Given the description of an element on the screen output the (x, y) to click on. 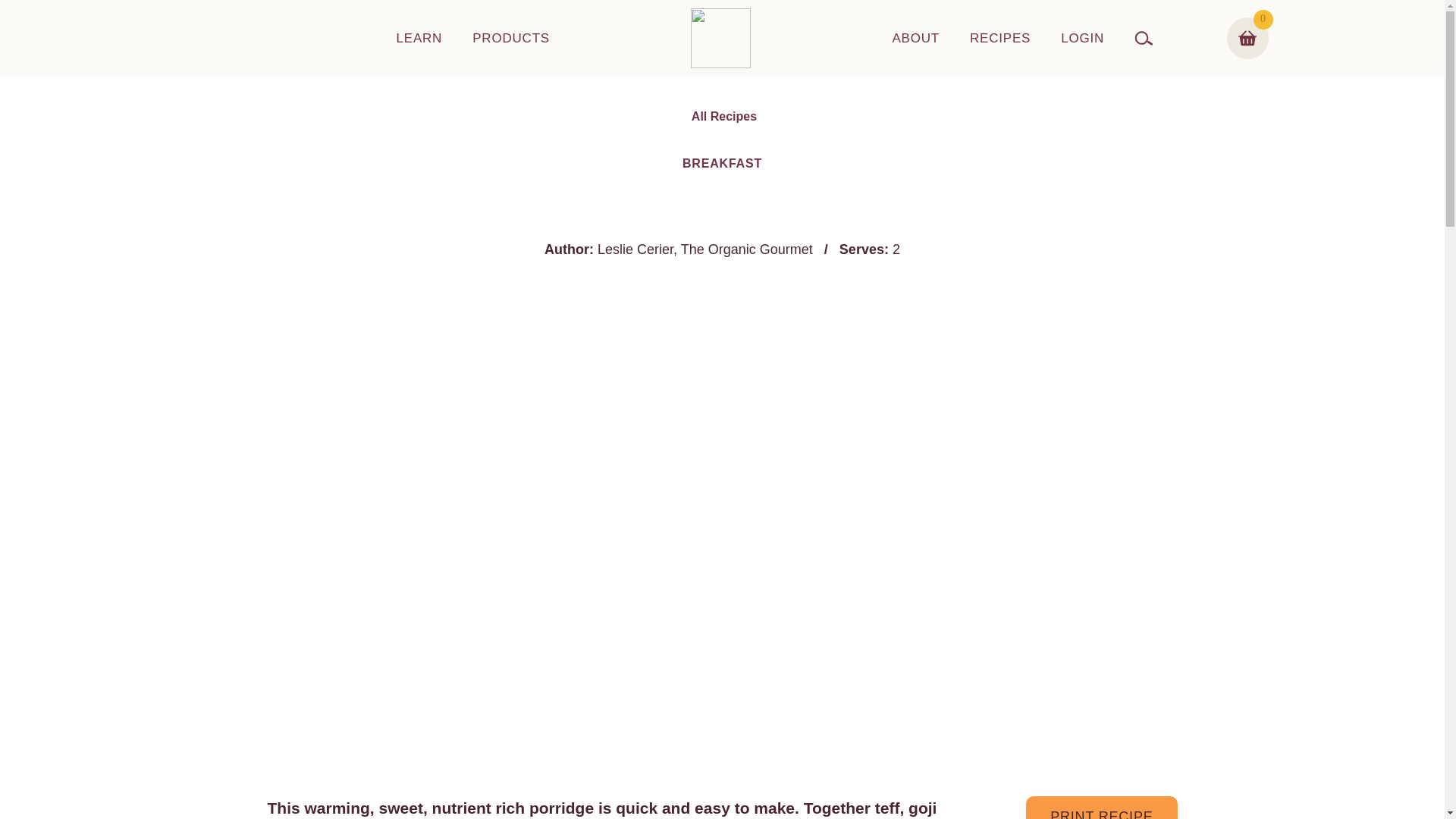
Leslie Cerier (634, 249)
All Recipes (721, 116)
LEARN (419, 38)
BREAKFAST (721, 163)
PRODUCTS (510, 38)
ABOUT (915, 38)
The Organic Gourmet (746, 249)
LOGIN (1082, 38)
RECIPES (999, 38)
